Given the description of an element on the screen output the (x, y) to click on. 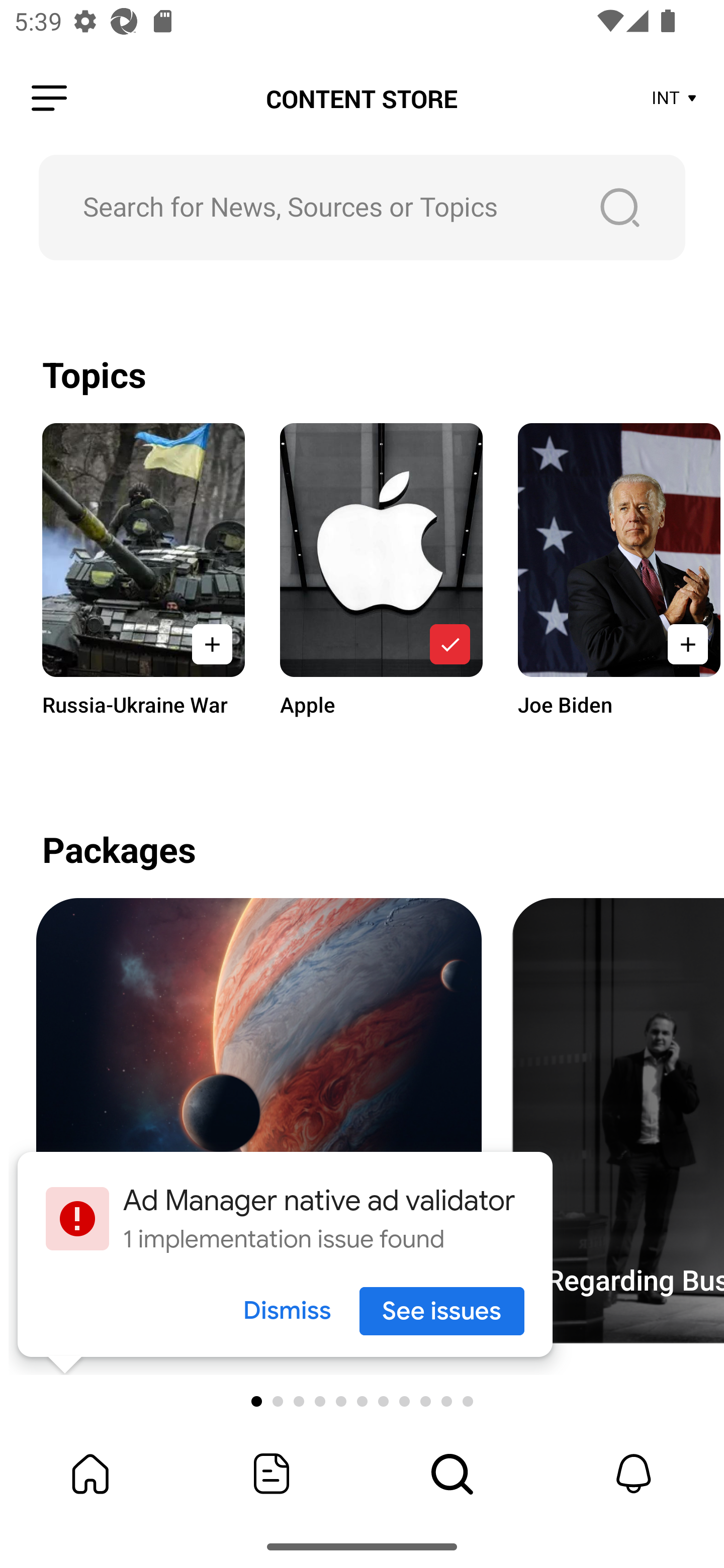
INT Store Area (674, 98)
Leading Icon (49, 98)
Search for News, Sources or Topics Search Button (361, 207)
Add To My Bundle (212, 644)
Add To My Bundle (449, 644)
Add To My Bundle (684, 644)
Content Store Discover Card Image Tech & Science (258, 1120)
My Bundle (90, 1473)
Featured (271, 1473)
Notifications (633, 1473)
